Given the description of an element on the screen output the (x, y) to click on. 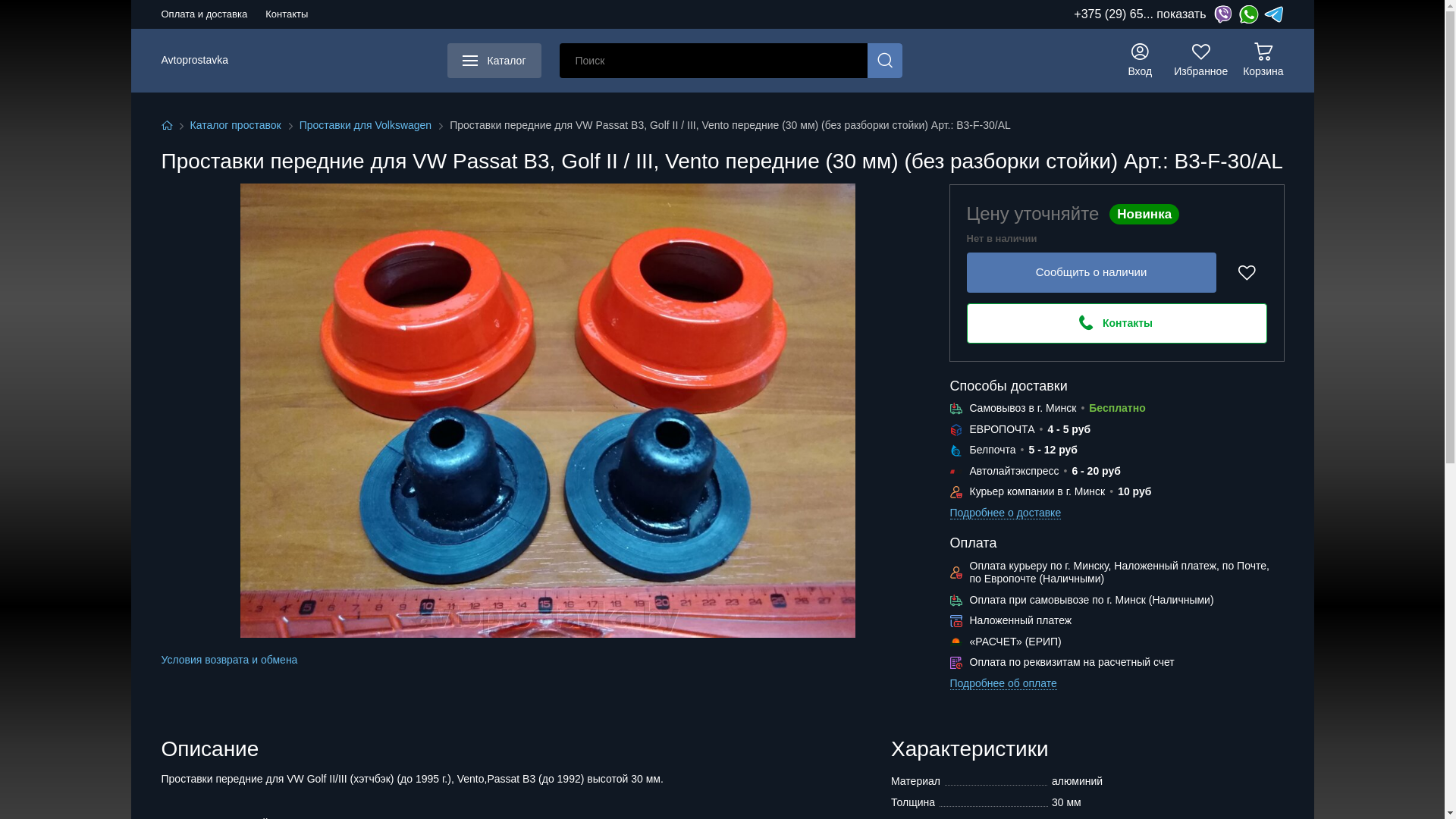
Telegram Element type: hover (1273, 14)
WhatsApp Element type: hover (1248, 14)
Avtoprostavka Element type: text (193, 60)
Viber Element type: hover (1222, 14)
